Given the description of an element on the screen output the (x, y) to click on. 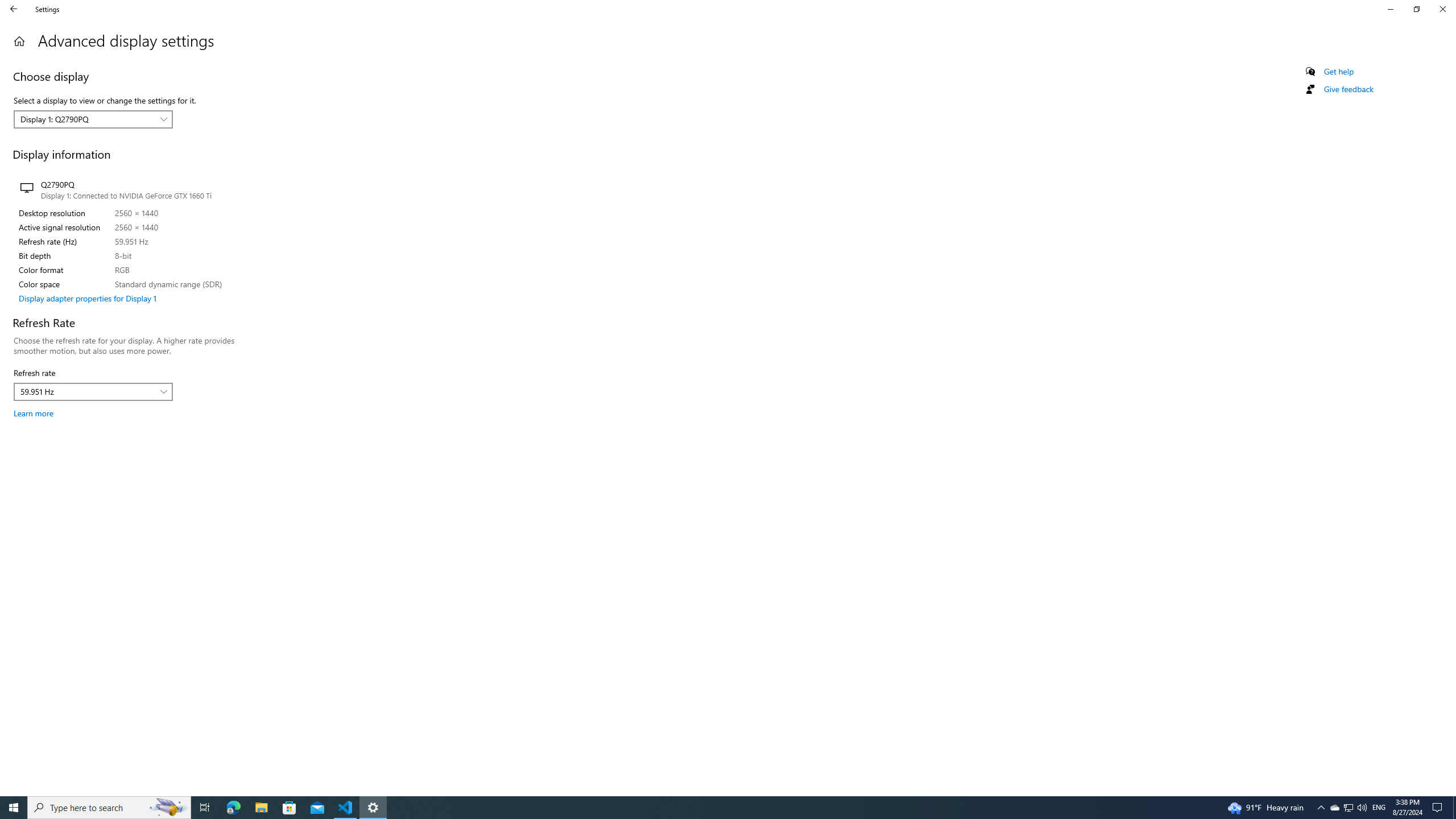
Get help (1338, 71)
59.951 Hz (87, 391)
